Given the description of an element on the screen output the (x, y) to click on. 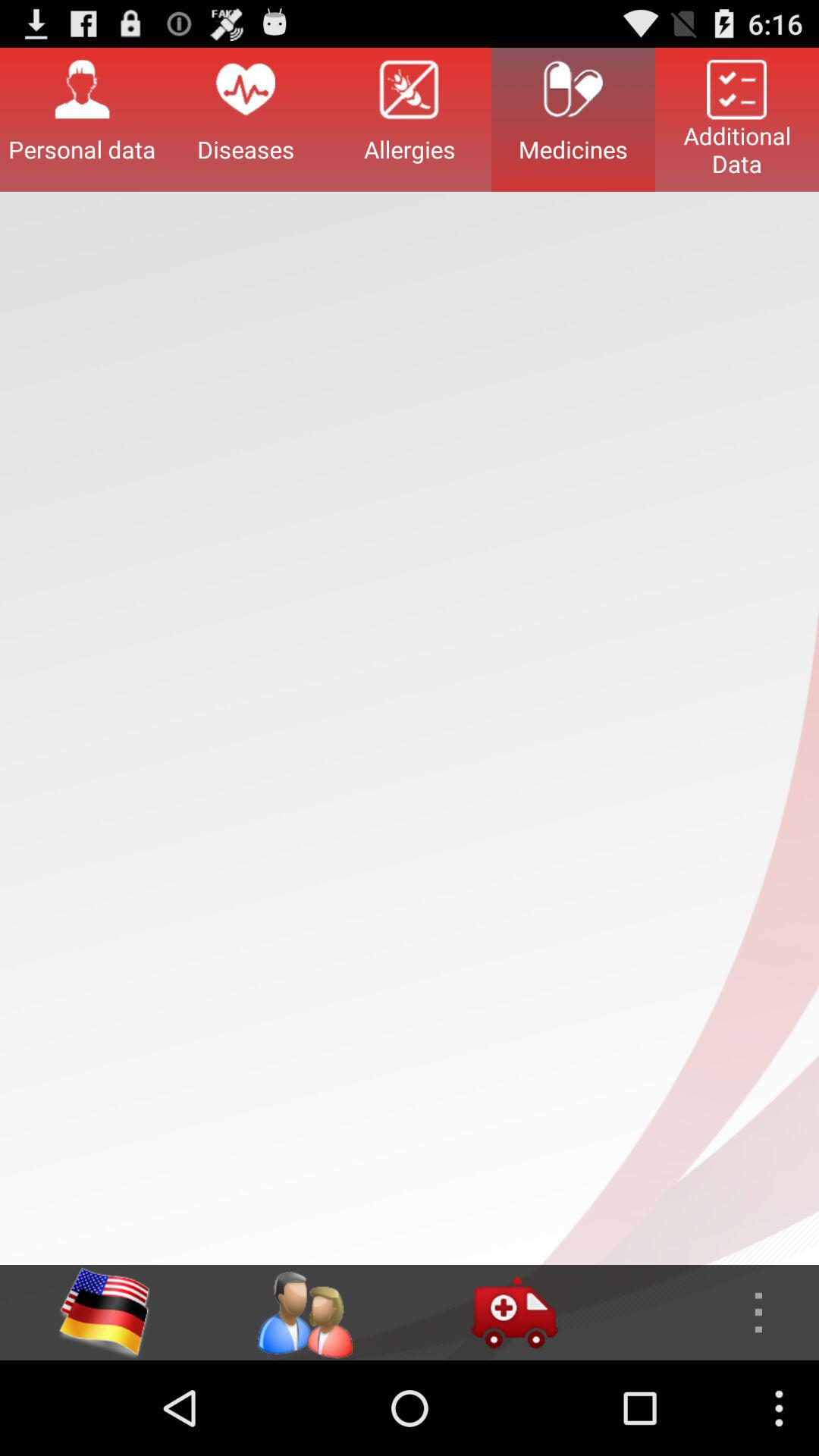
flip to allergies (409, 119)
